Given the description of an element on the screen output the (x, y) to click on. 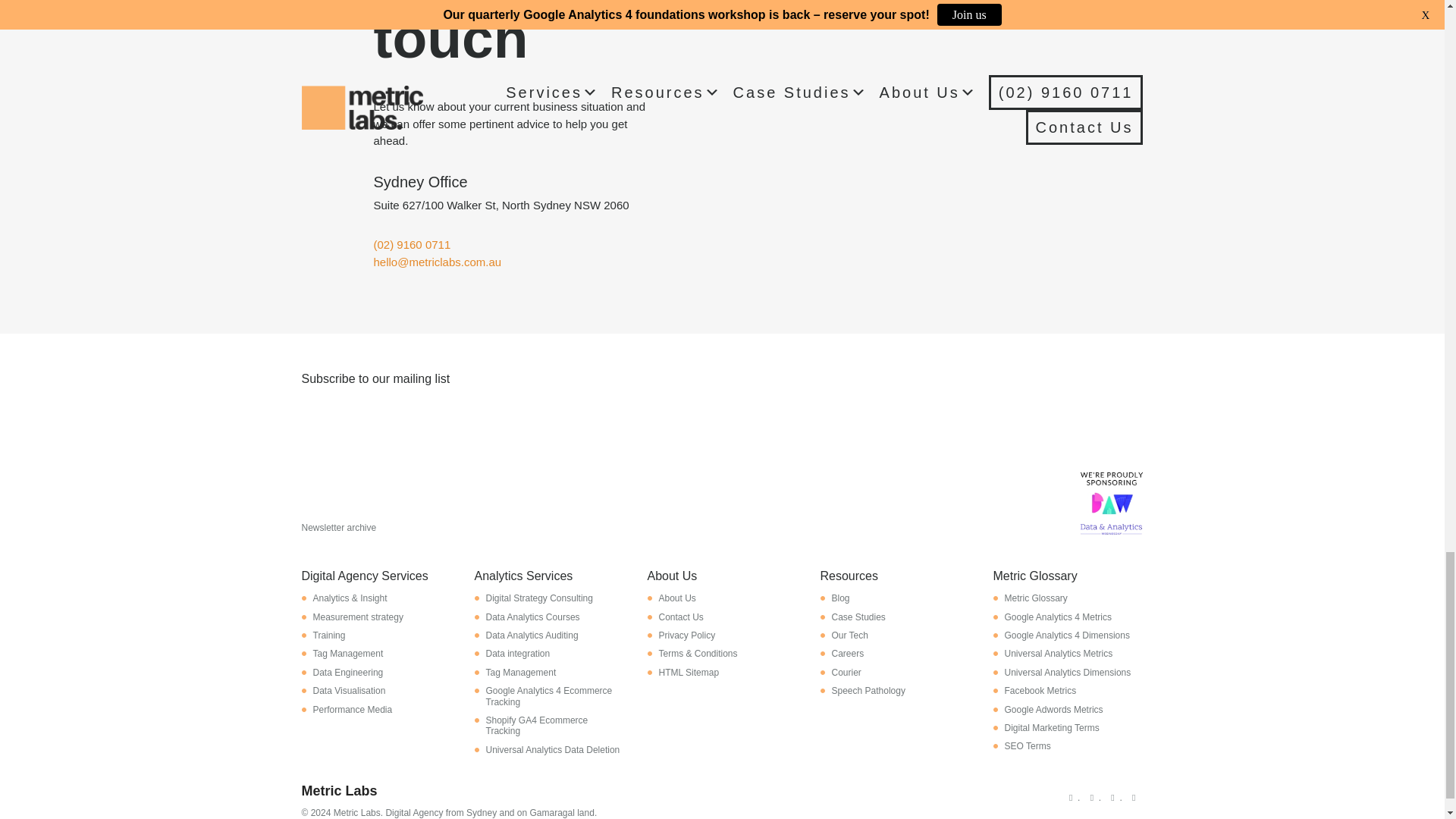
Form 1 (902, 147)
Form 0 (721, 460)
